Given the description of an element on the screen output the (x, y) to click on. 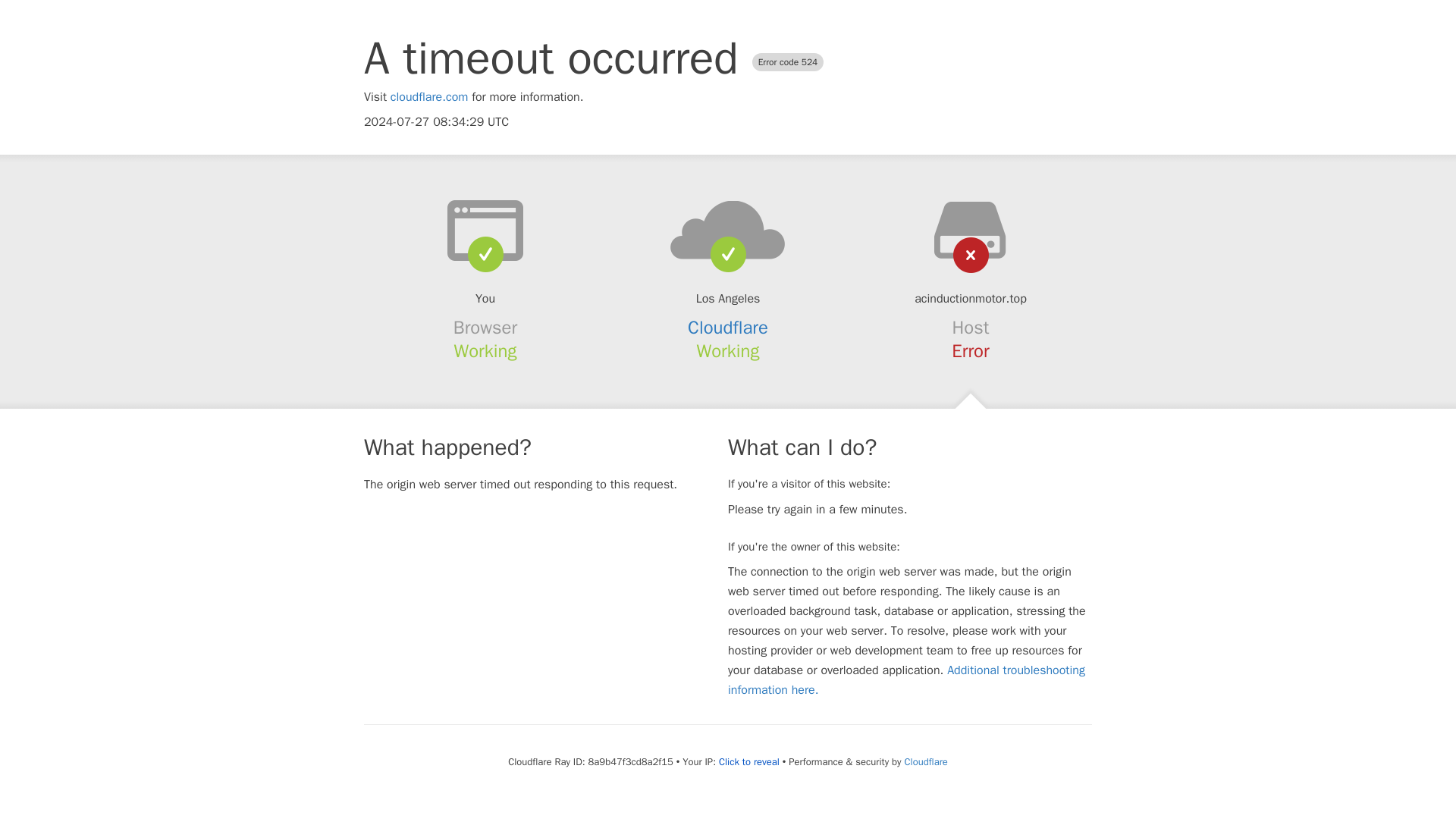
Additional troubleshooting information here. (906, 679)
Click to reveal (748, 762)
Cloudflare (727, 327)
cloudflare.com (429, 96)
Cloudflare (925, 761)
